Given the description of an element on the screen output the (x, y) to click on. 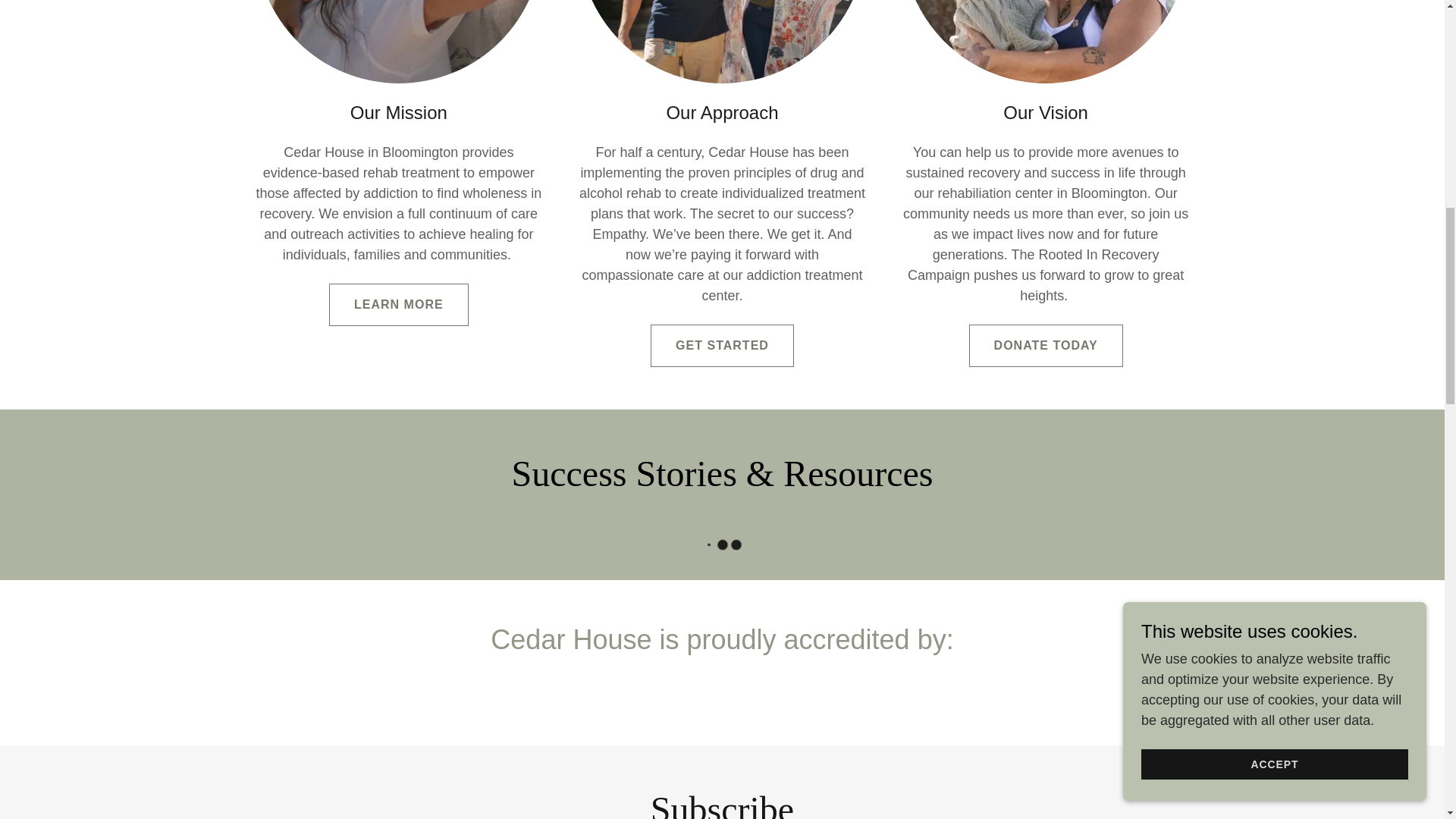
DONATE TODAY (1045, 345)
LEARN MORE (398, 304)
GET STARTED (721, 345)
